Given the description of an element on the screen output the (x, y) to click on. 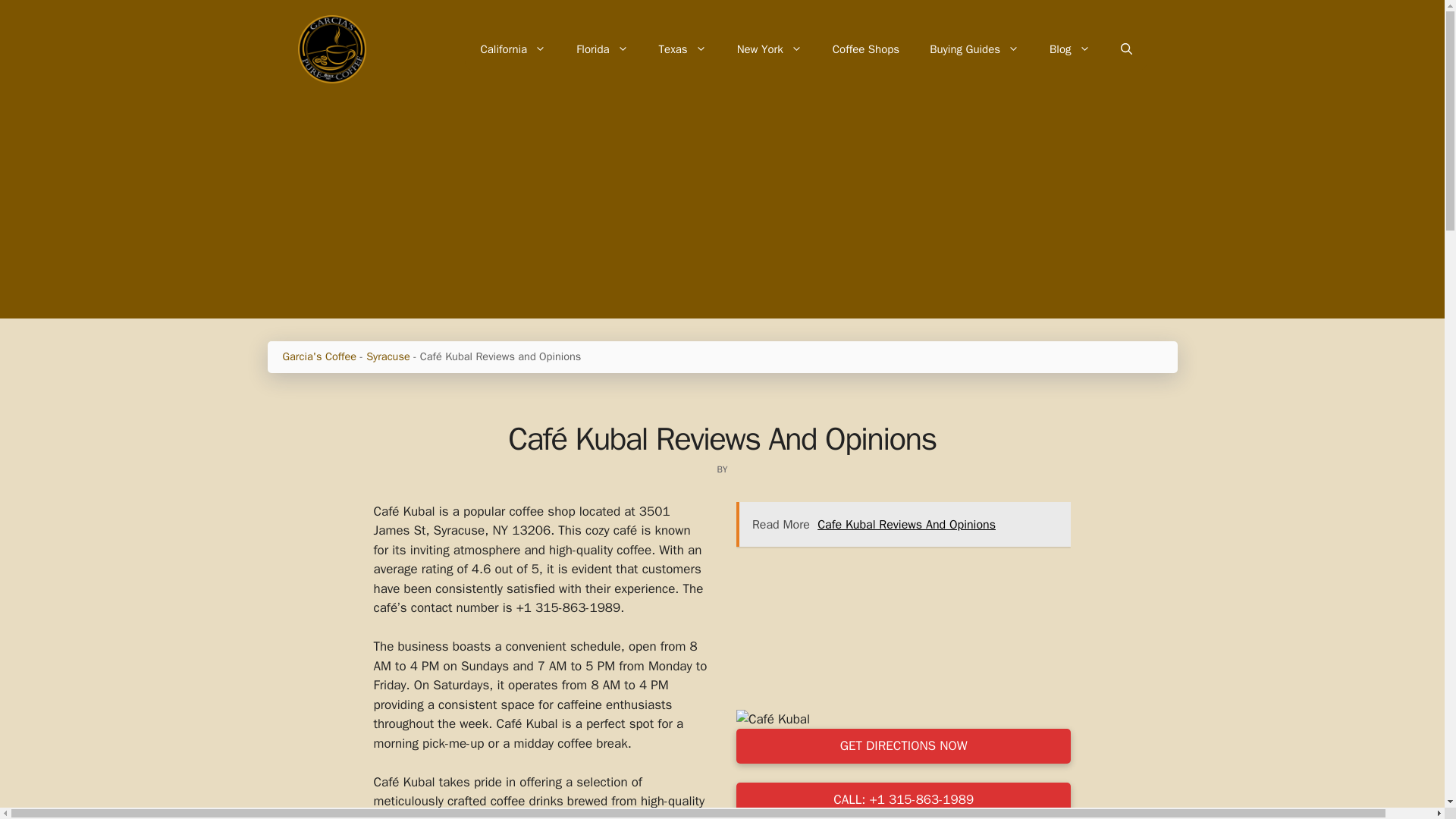
Florida (601, 49)
Coffee Shops (865, 49)
California (512, 49)
Texas (682, 49)
Blog (1069, 49)
Buying Guides (973, 49)
New York (769, 49)
